Given the description of an element on the screen output the (x, y) to click on. 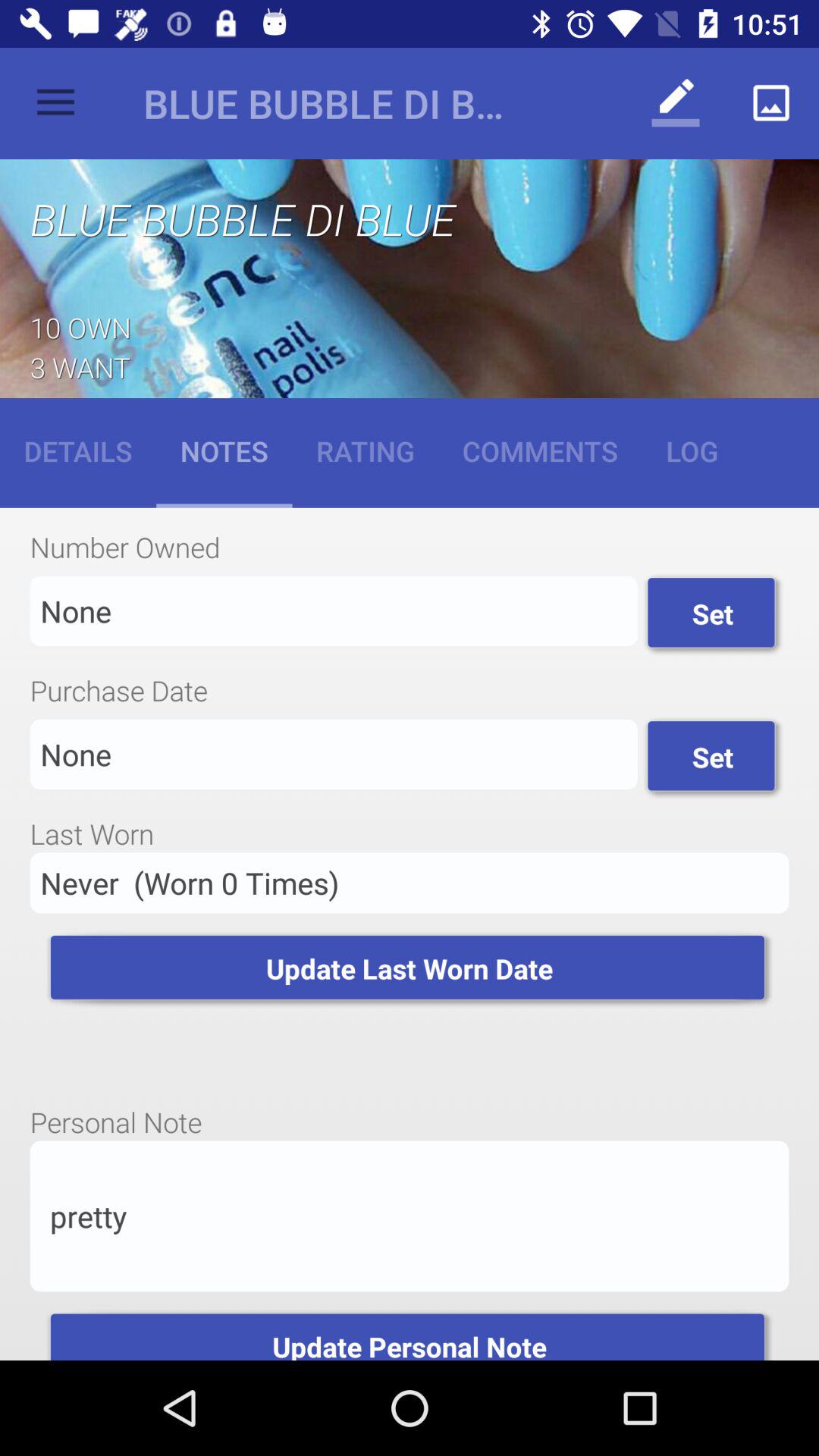
launch the item to the right of the details (224, 450)
